Given the description of an element on the screen output the (x, y) to click on. 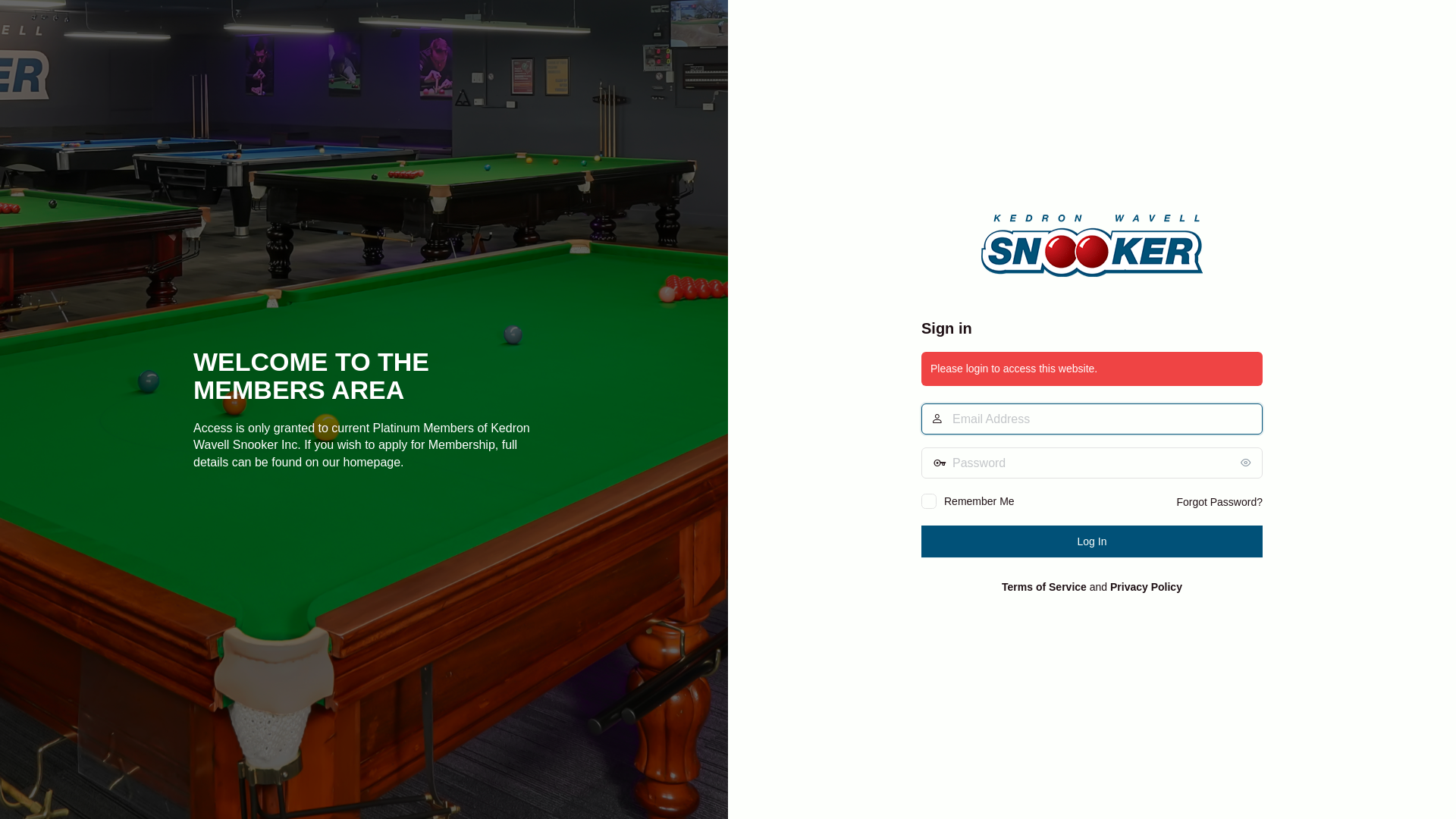
Terms of Service Element type: text (1043, 586)
Privacy Policy Element type: text (1146, 586)
Log In Element type: text (1091, 541)
Forgot Password? Element type: text (1219, 501)
